Given the description of an element on the screen output the (x, y) to click on. 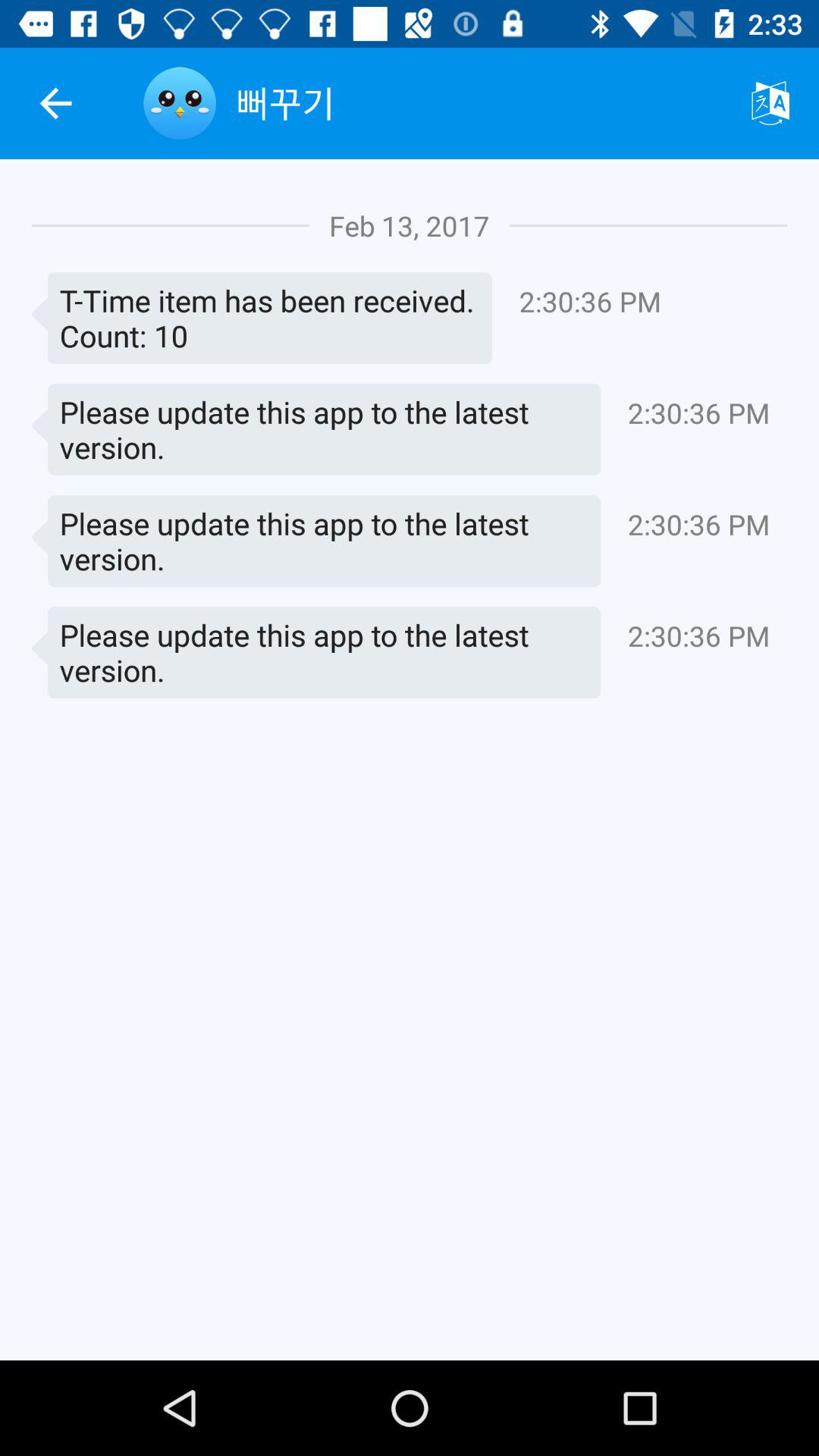
flip until t time item item (261, 318)
